Given the description of an element on the screen output the (x, y) to click on. 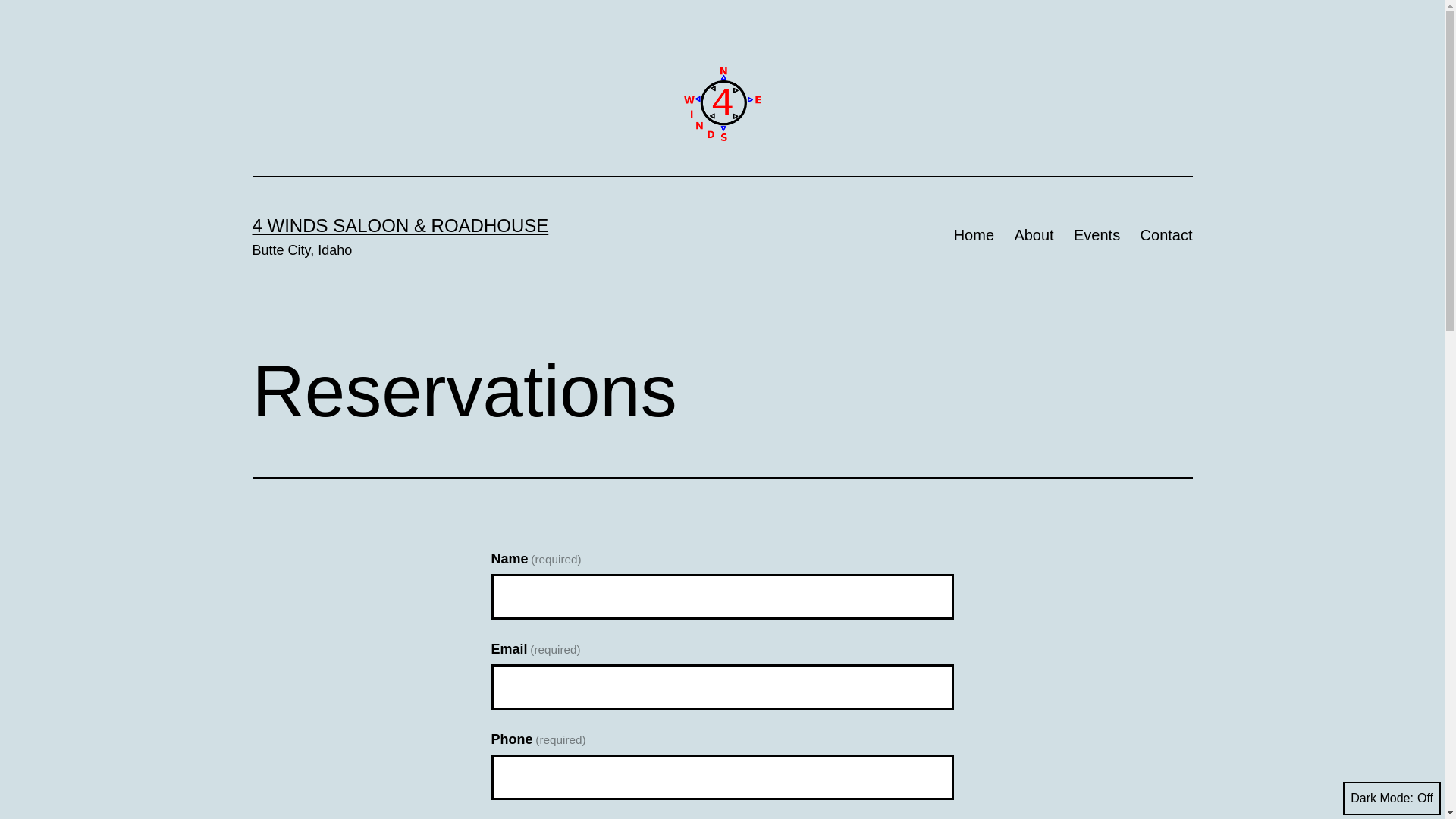
4 WINDS SALOON & ROADHOUSE Element type: text (399, 225)
Home Element type: text (973, 235)
Contact Element type: text (1165, 235)
Dark Mode: Element type: text (1391, 798)
Events Element type: text (1096, 235)
About Element type: text (1033, 235)
